Given the description of an element on the screen output the (x, y) to click on. 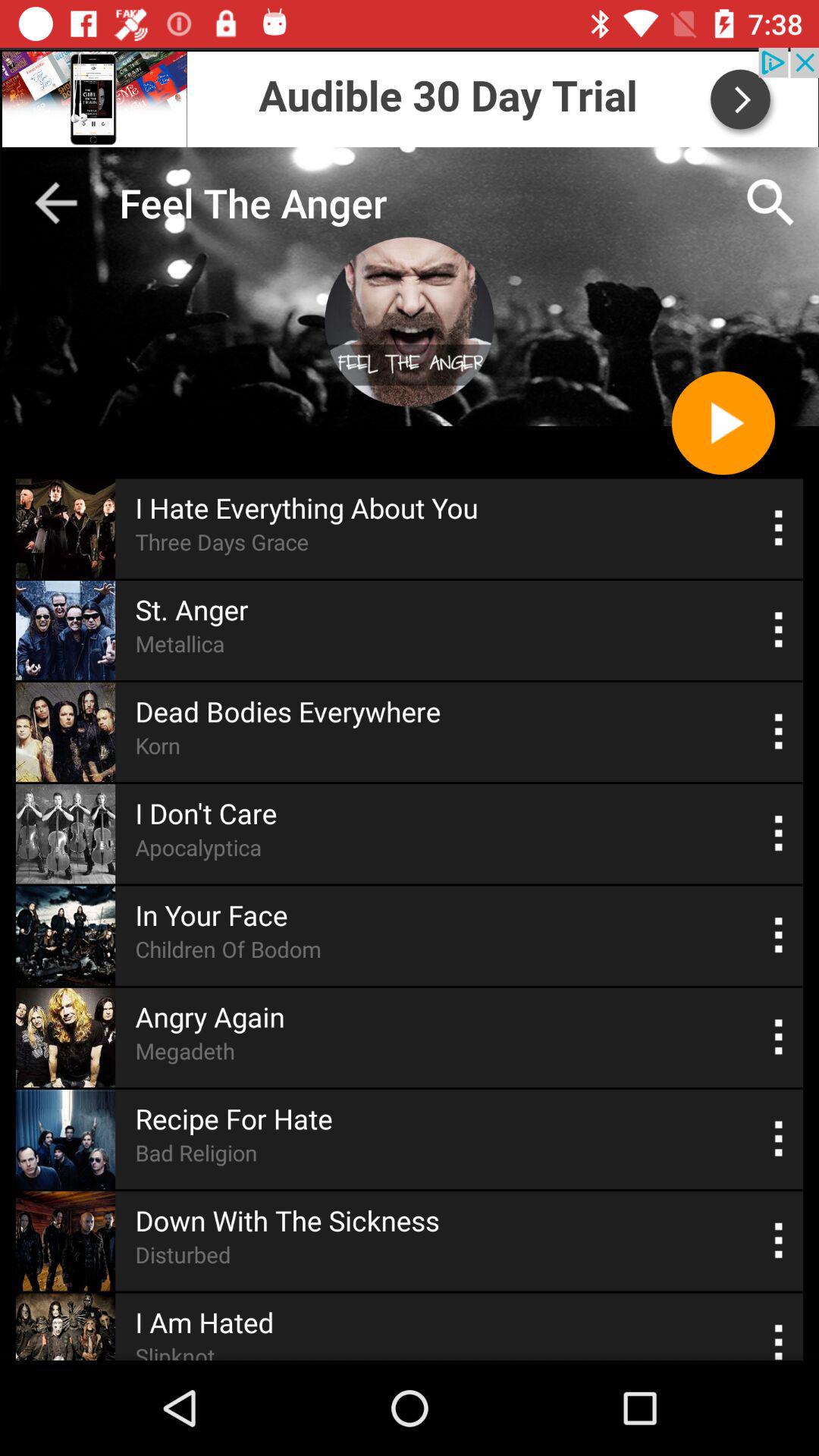
show more options for track (779, 1037)
